Given the description of an element on the screen output the (x, y) to click on. 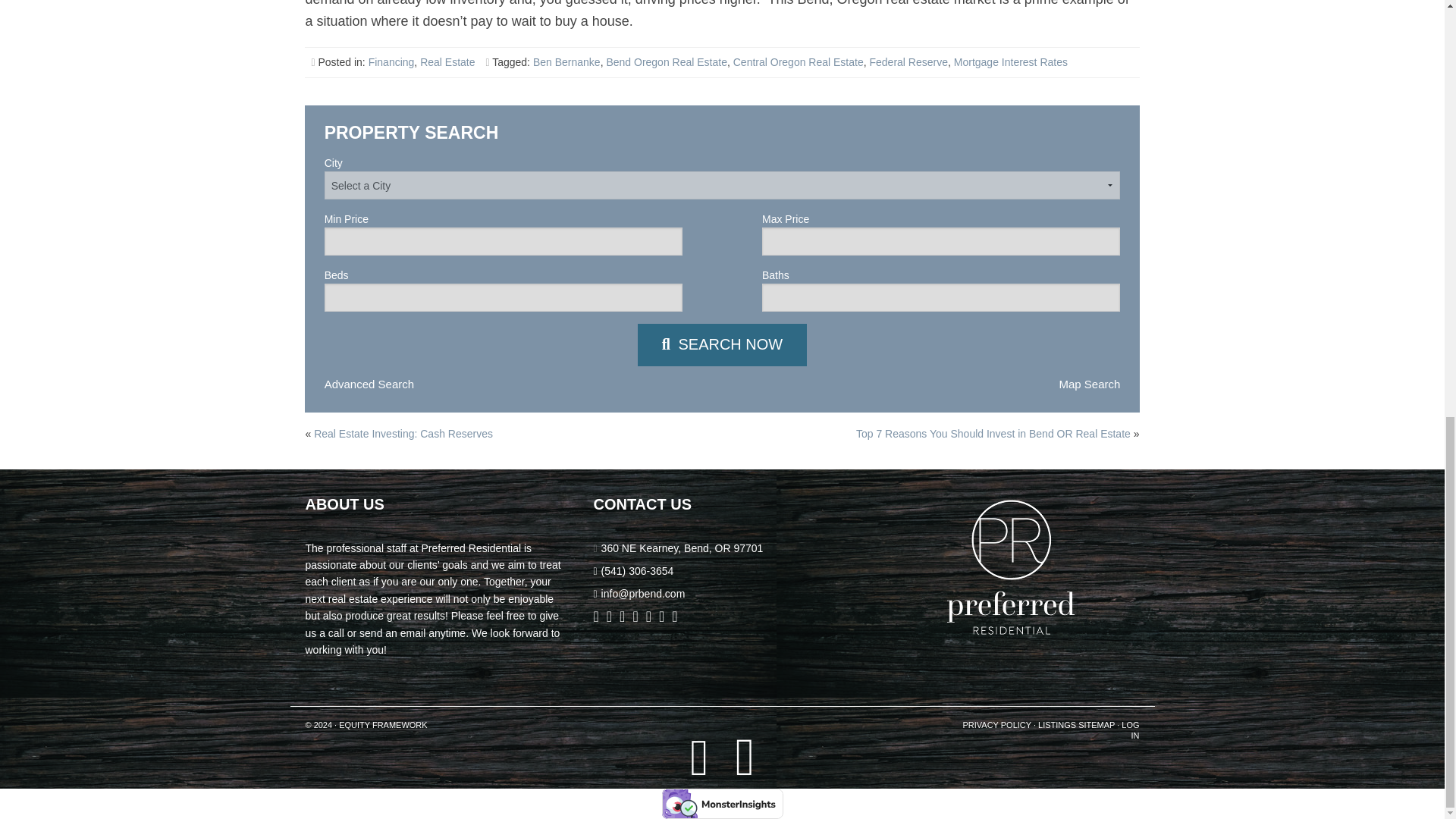
Bend Oregon Real Estate (665, 61)
Mortgage Interest Rates (1010, 61)
Map Search (1088, 384)
Real Estate (447, 61)
Financing (391, 61)
Federal Reserve (908, 61)
Ben Bernanke (565, 61)
Advanced Search (368, 384)
Top 7 Reasons You Should Invest in Bend OR Real Estate (721, 344)
